Given the description of an element on the screen output the (x, y) to click on. 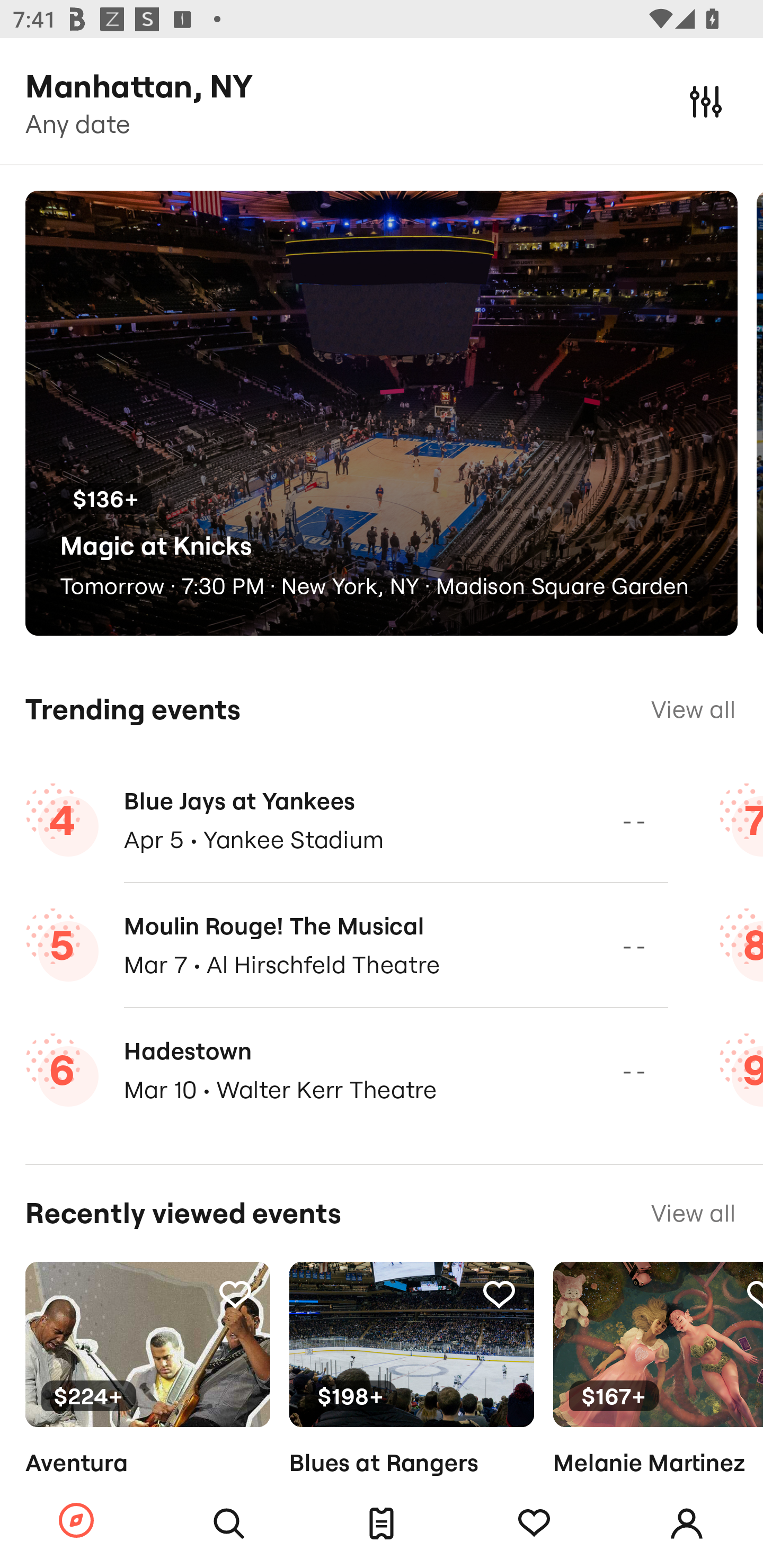
Filters (705, 100)
View all (693, 709)
View all (693, 1213)
Tracking $224+ Aventura Thu, May 30, 8 PM (147, 1399)
Tracking $198+ Blues at Rangers Sat, Mar 9, 7 PM (411, 1399)
Tracking $167+ Melanie Martinez Tue, May 28, 7 PM (658, 1399)
Tracking (234, 1293)
Tracking (498, 1293)
Browse (76, 1521)
Search (228, 1523)
Tickets (381, 1523)
Tracking (533, 1523)
Account (686, 1523)
